Given the description of an element on the screen output the (x, y) to click on. 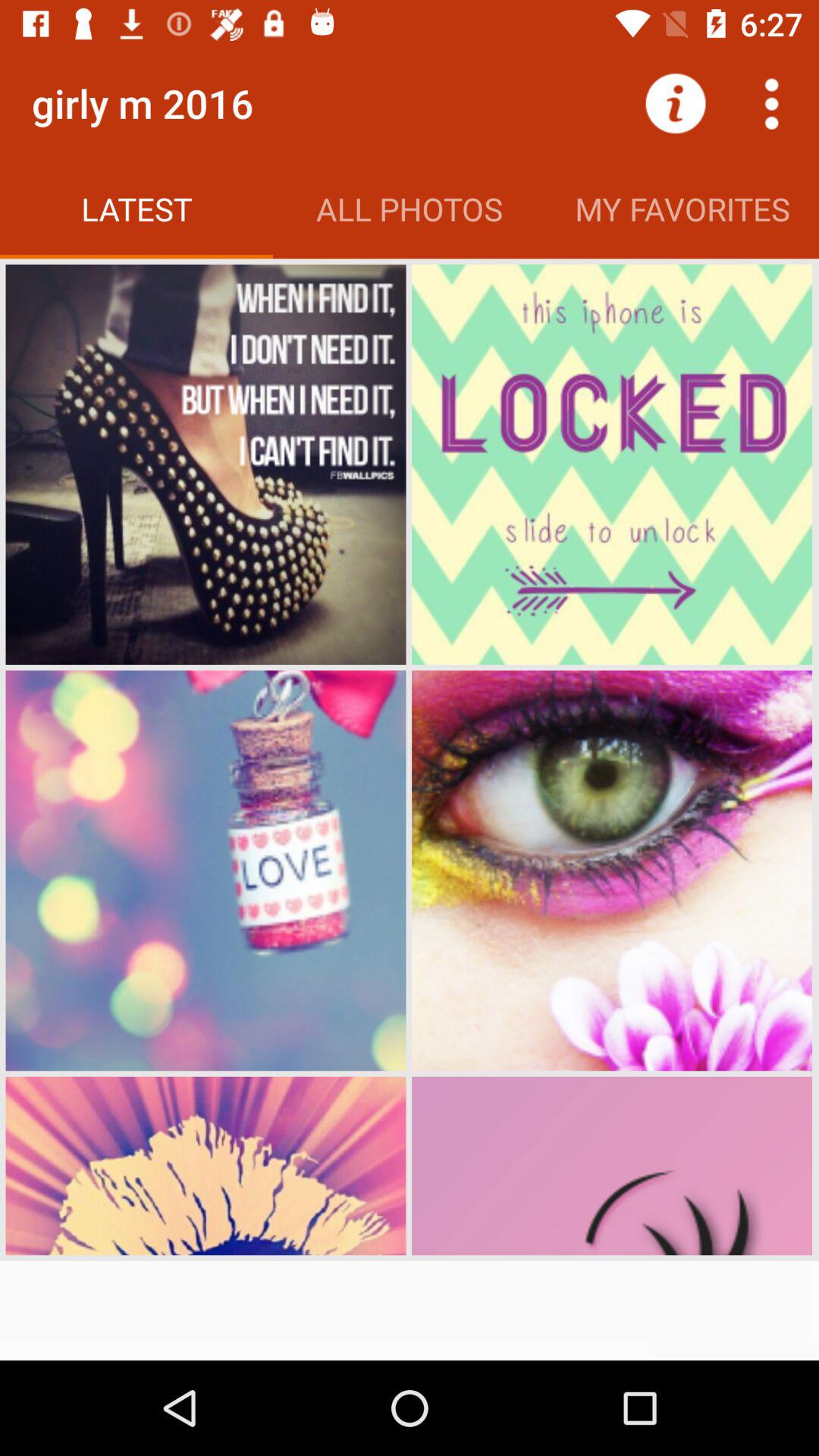
select the app above the my favorites app (675, 103)
